Given the description of an element on the screen output the (x, y) to click on. 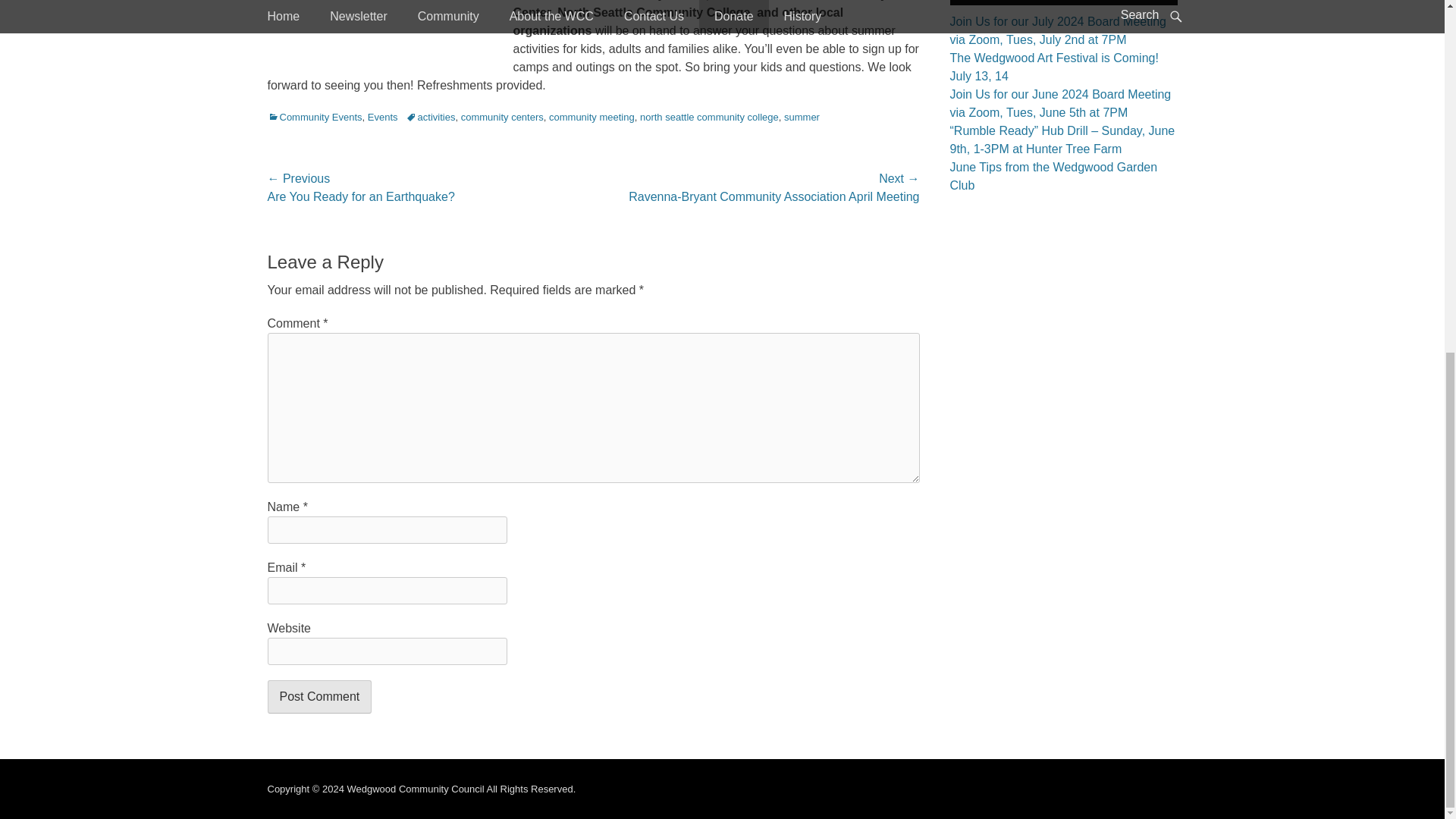
community meeting (591, 116)
Post Comment (318, 696)
community centers (502, 116)
Community Events (313, 116)
activities (430, 116)
Events (382, 116)
north seattle community college (709, 116)
